Given the description of an element on the screen output the (x, y) to click on. 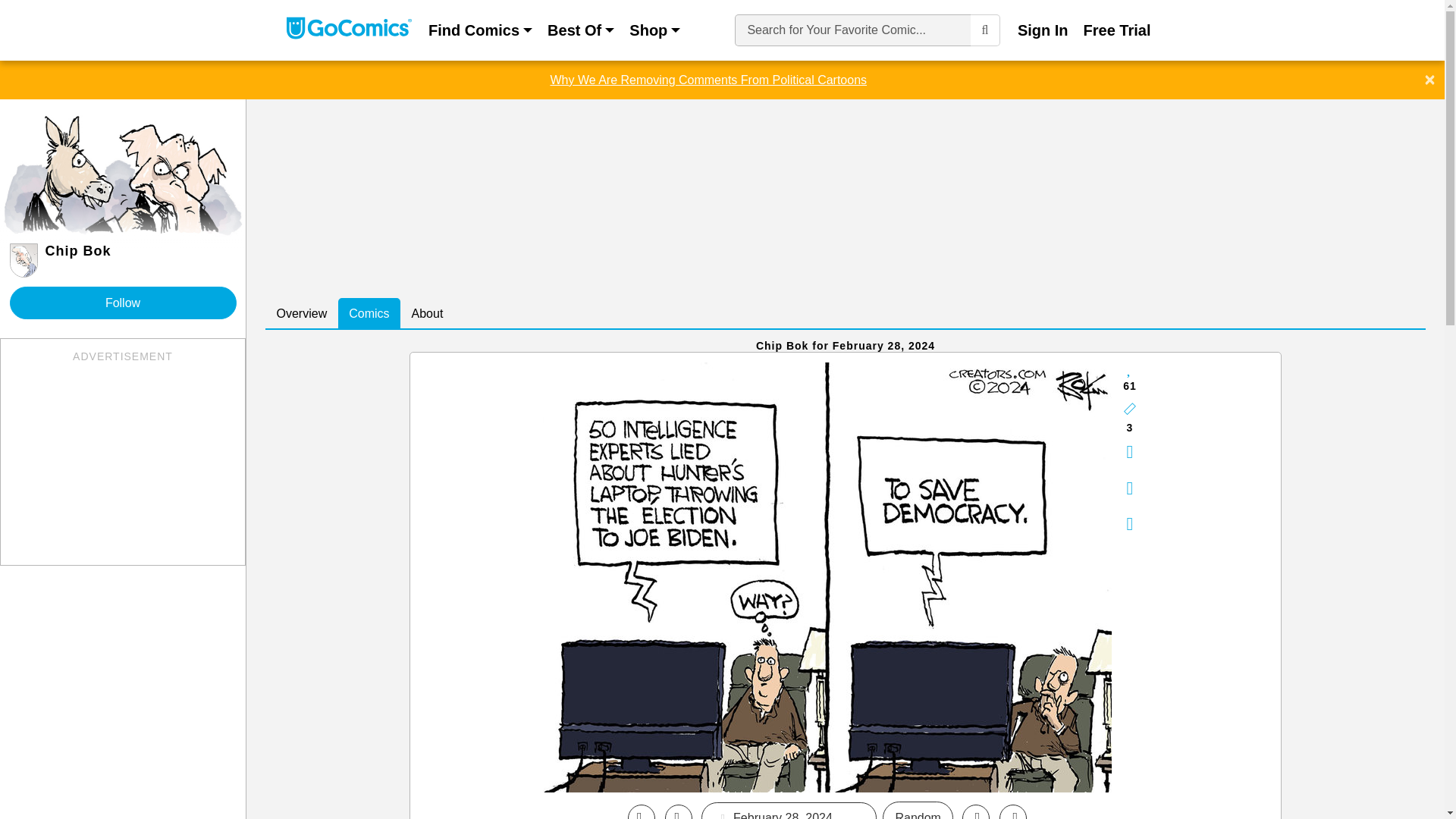
Find Comics (480, 30)
Best Of (580, 30)
Chip Bok (827, 576)
GoComics Home (349, 29)
Comics (368, 314)
Random (917, 810)
Why We Are Removing Comments From Political Cartoons (708, 78)
Sign In (1042, 30)
Follow (121, 302)
About (427, 314)
Free Trial (1116, 30)
Overview (300, 314)
Shop (654, 30)
Chip Bok (121, 260)
